Given the description of an element on the screen output the (x, y) to click on. 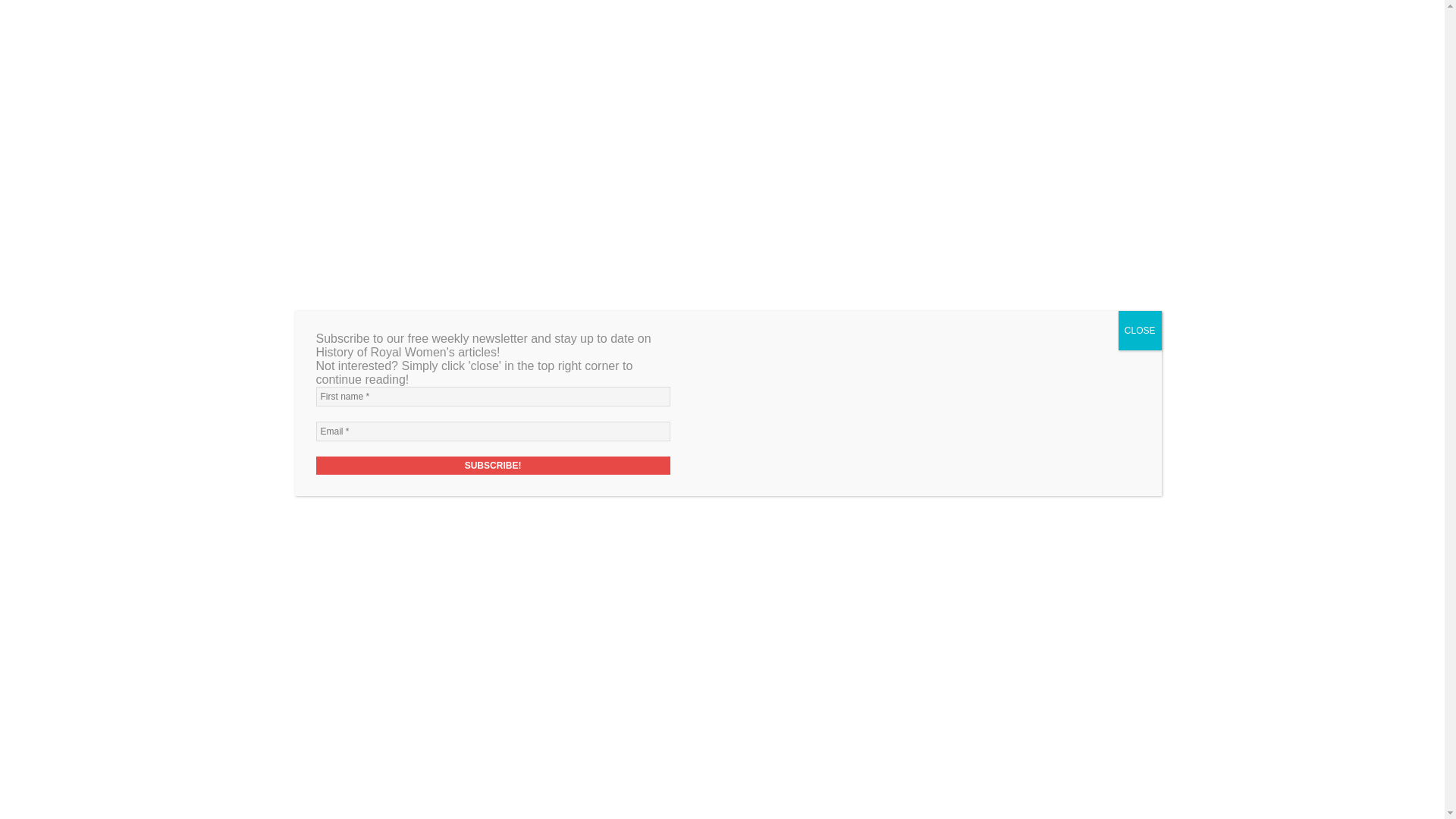
Advertisement (588, 30)
